Given the description of an element on the screen output the (x, y) to click on. 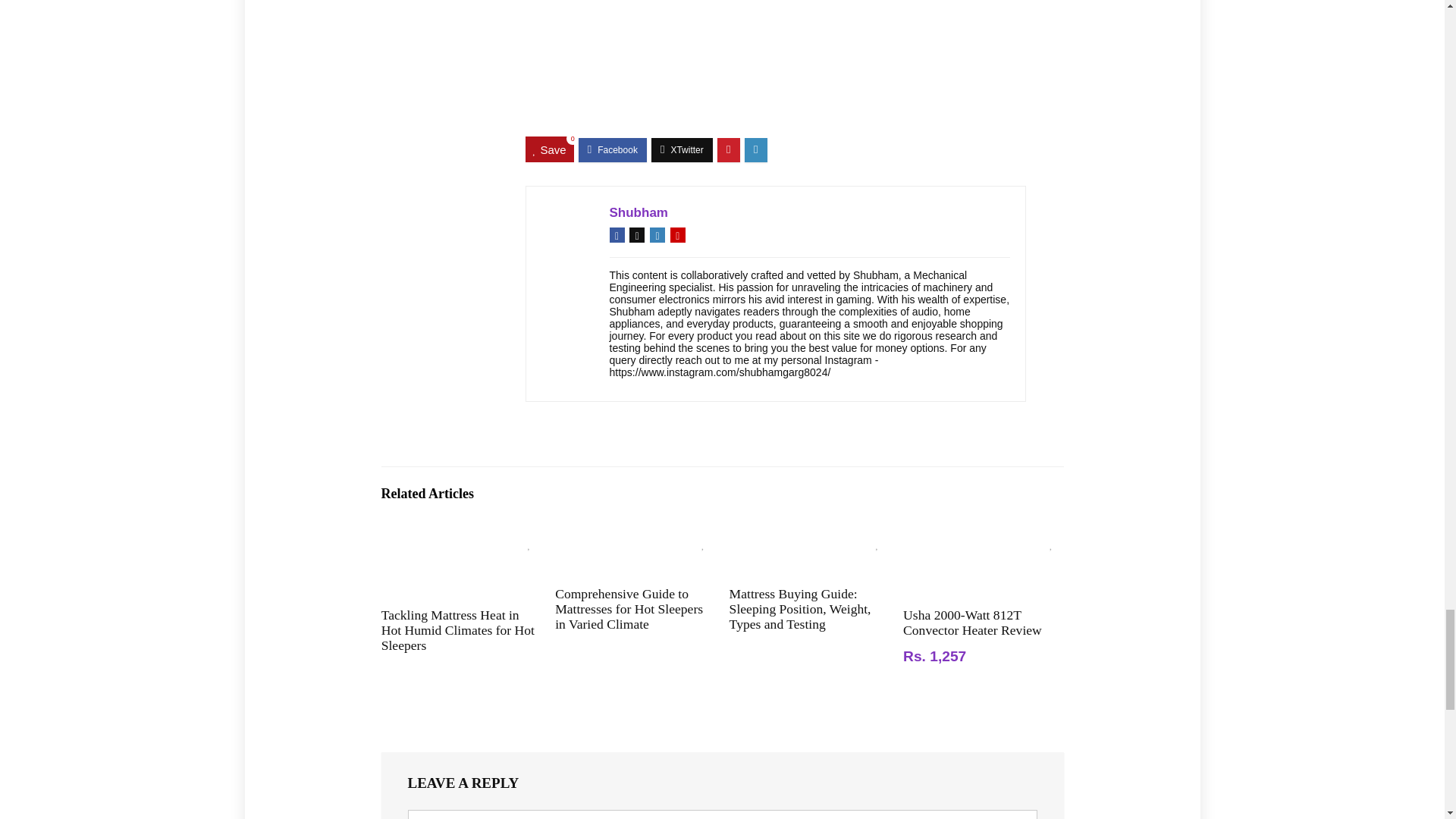
Sunday Orthopedic Mattress Review (774, 64)
